Given the description of an element on the screen output the (x, y) to click on. 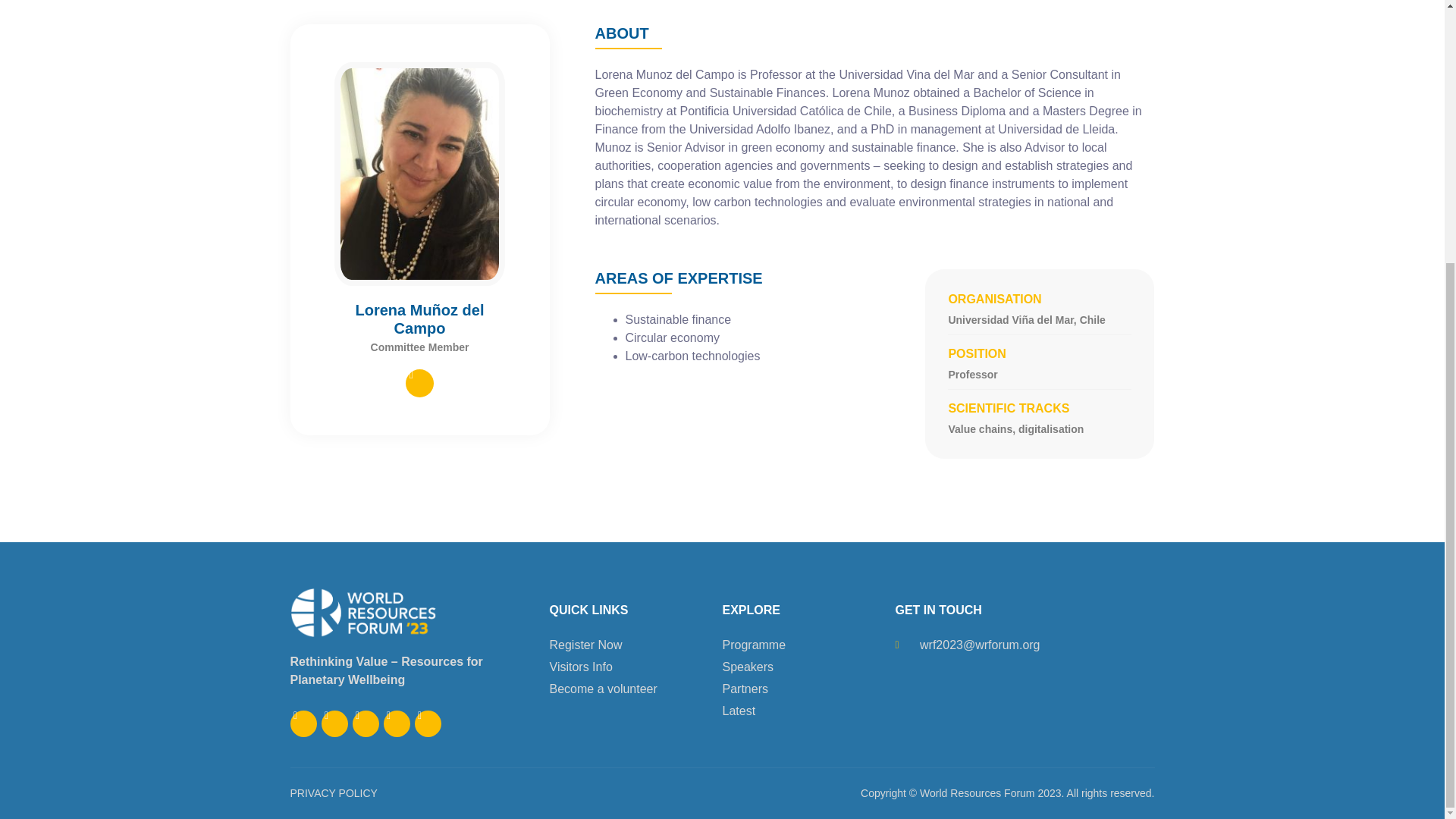
Register Now (635, 645)
PRIVACY POLICY (333, 793)
Become a volunteer (635, 689)
Programme (808, 645)
Speakers (808, 667)
Partners (808, 689)
Latest (808, 710)
Visitors Info (635, 667)
